Given the description of an element on the screen output the (x, y) to click on. 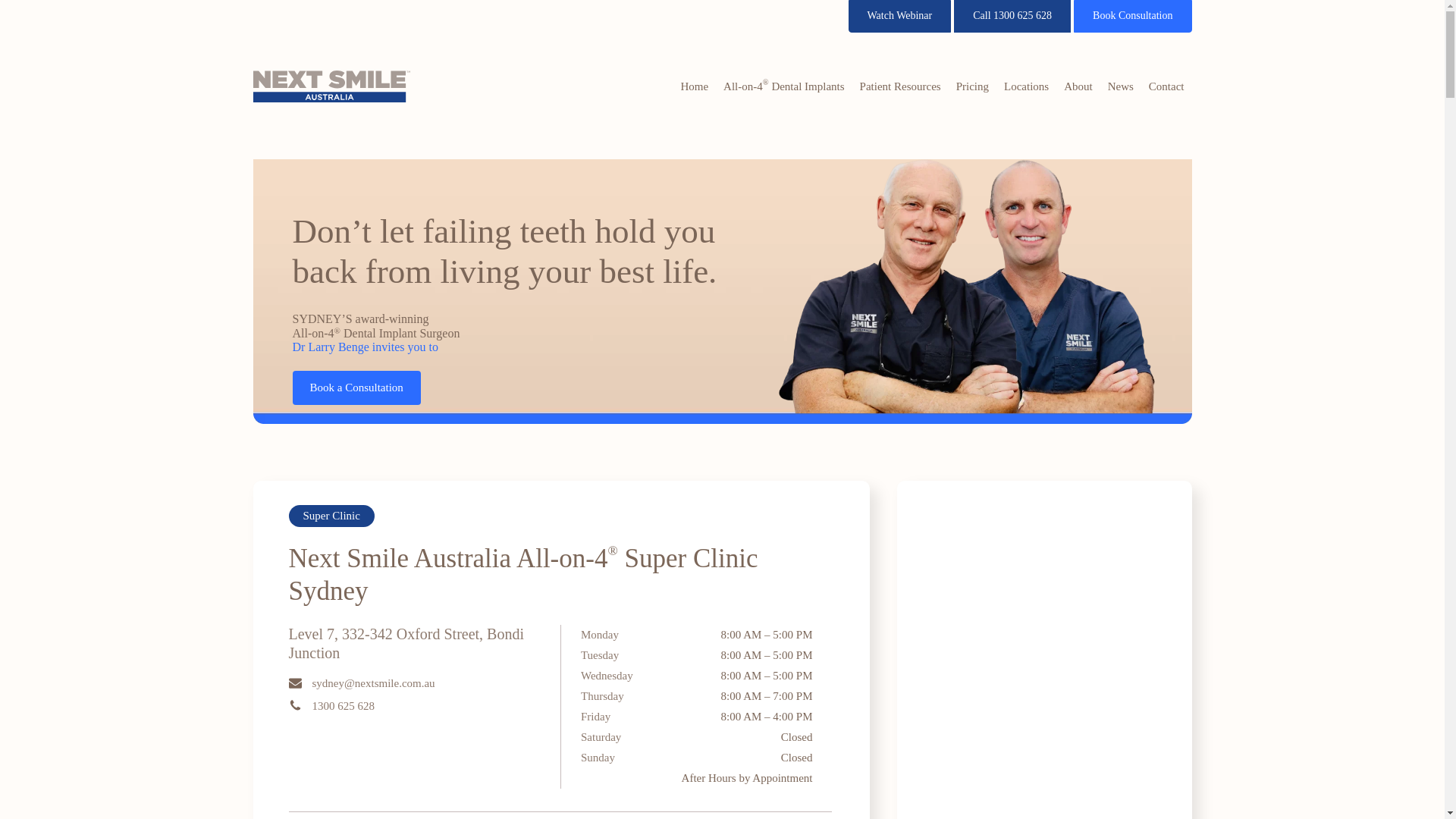
Home Element type: text (693, 86)
Watch Webinar Element type: text (899, 16)
Patient Resources Element type: text (900, 86)
News Element type: text (1120, 86)
sydney@nextsmile.com.au Element type: text (363, 682)
Book a Consultation Element type: text (356, 387)
Book Consultation Element type: text (1132, 16)
Contact Element type: text (1166, 86)
Call 1300 625 628 Element type: text (1011, 16)
Locations Element type: text (1026, 86)
Pricing Element type: text (972, 86)
1300 625 628 Element type: text (333, 705)
About Element type: text (1078, 86)
